Given the description of an element on the screen output the (x, y) to click on. 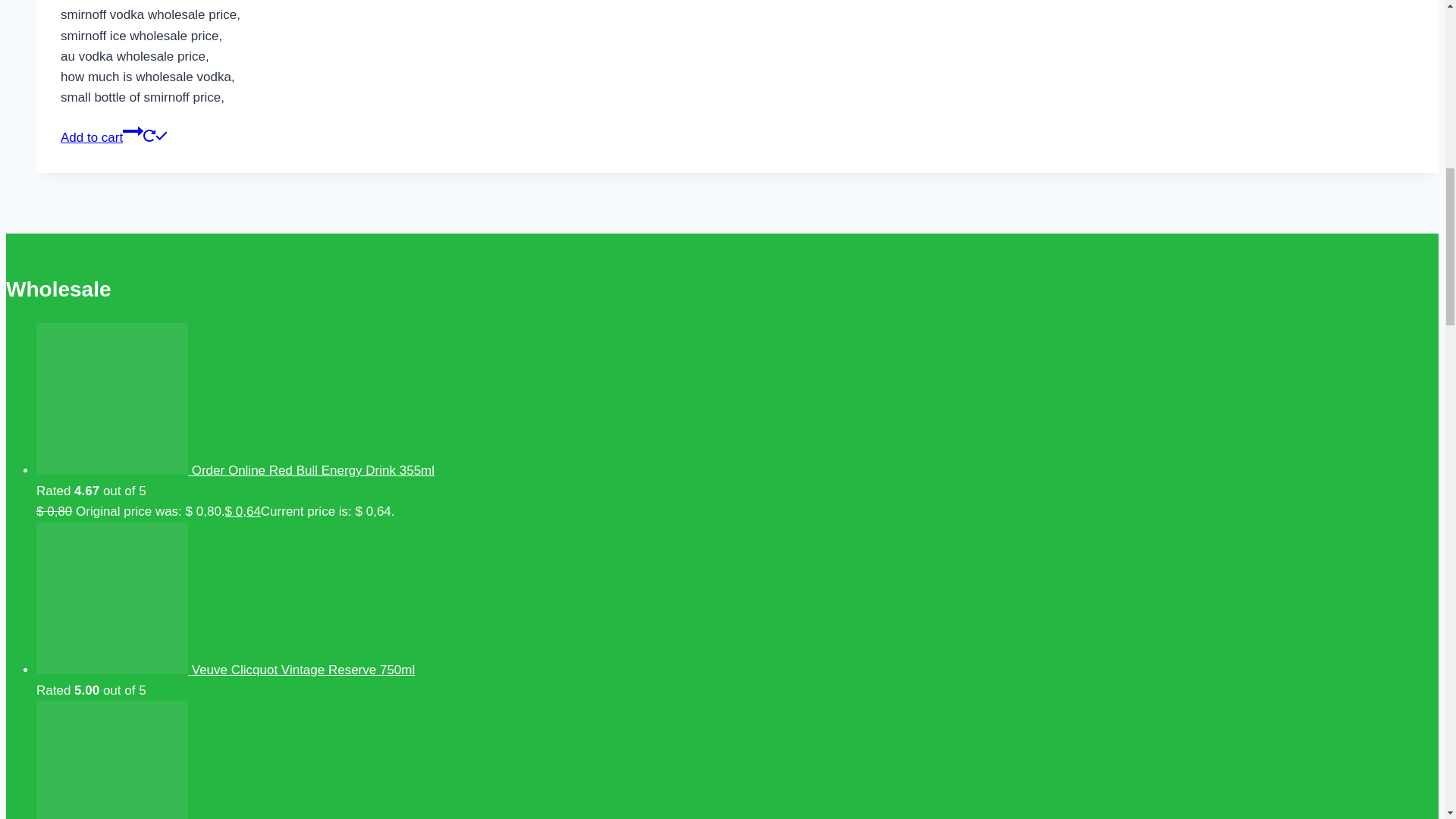
Veuve Clicquot Vintage Reserve 750ml (225, 669)
Loading (148, 135)
Continue (132, 130)
Done (161, 135)
Add to cartContinue Loading Done (114, 137)
Order Online Red Bull Energy Drink 355ml (234, 470)
